Given the description of an element on the screen output the (x, y) to click on. 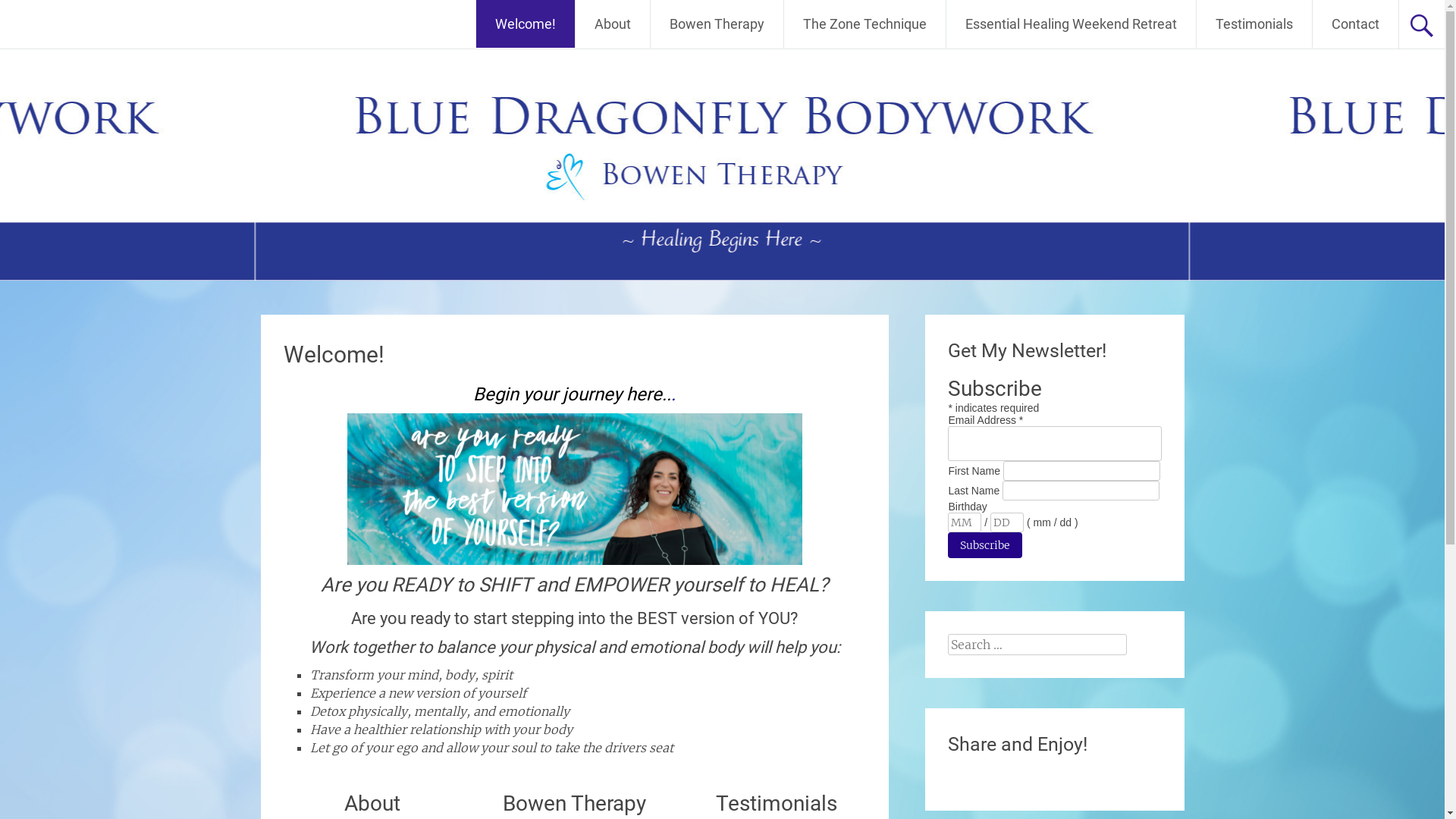
Search Element type: text (29, 12)
Welcome! Element type: text (333, 354)
Welcome! Element type: text (525, 23)
The Zone Technique Element type: text (864, 23)
About Element type: text (612, 23)
Bowen Therapy Element type: text (716, 23)
Testimonials Element type: text (1253, 23)
Contact Element type: text (1355, 23)
Essential Healing Weekend Retreat Element type: text (1070, 23)
Subscribe Element type: text (984, 545)
